Given the description of an element on the screen output the (x, y) to click on. 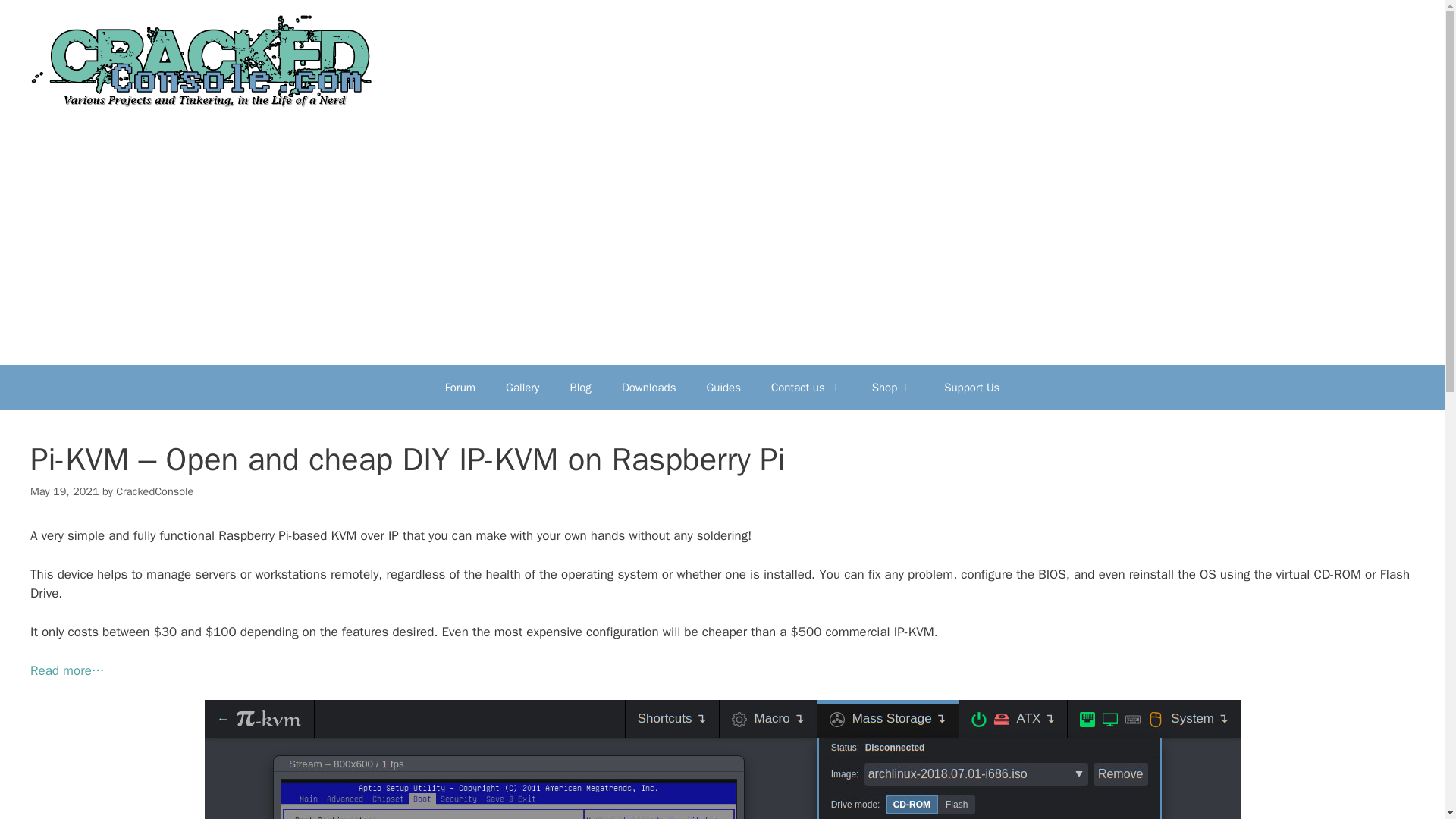
Blog (579, 387)
CrackedConsole (154, 490)
View all posts by CrackedConsole (154, 490)
Downloads (649, 387)
Gallery (522, 387)
Contact us (806, 387)
Shop (893, 387)
Support Us (971, 387)
Guides (722, 387)
